Given the description of an element on the screen output the (x, y) to click on. 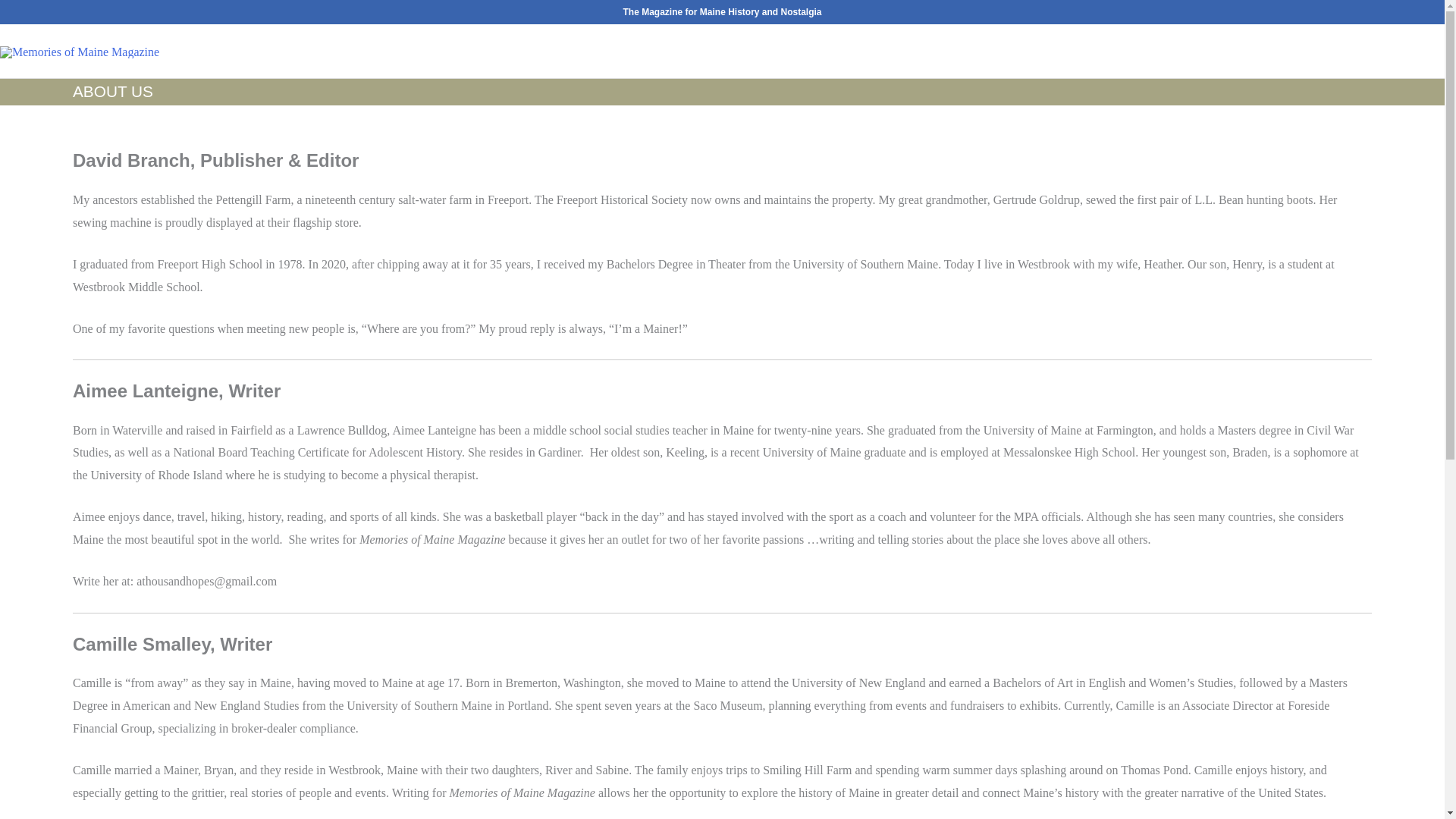
Advertise (1184, 51)
Contact (1336, 51)
About Us (1262, 51)
Subscribe (1102, 51)
Our Magazine (1009, 51)
